Given the description of an element on the screen output the (x, y) to click on. 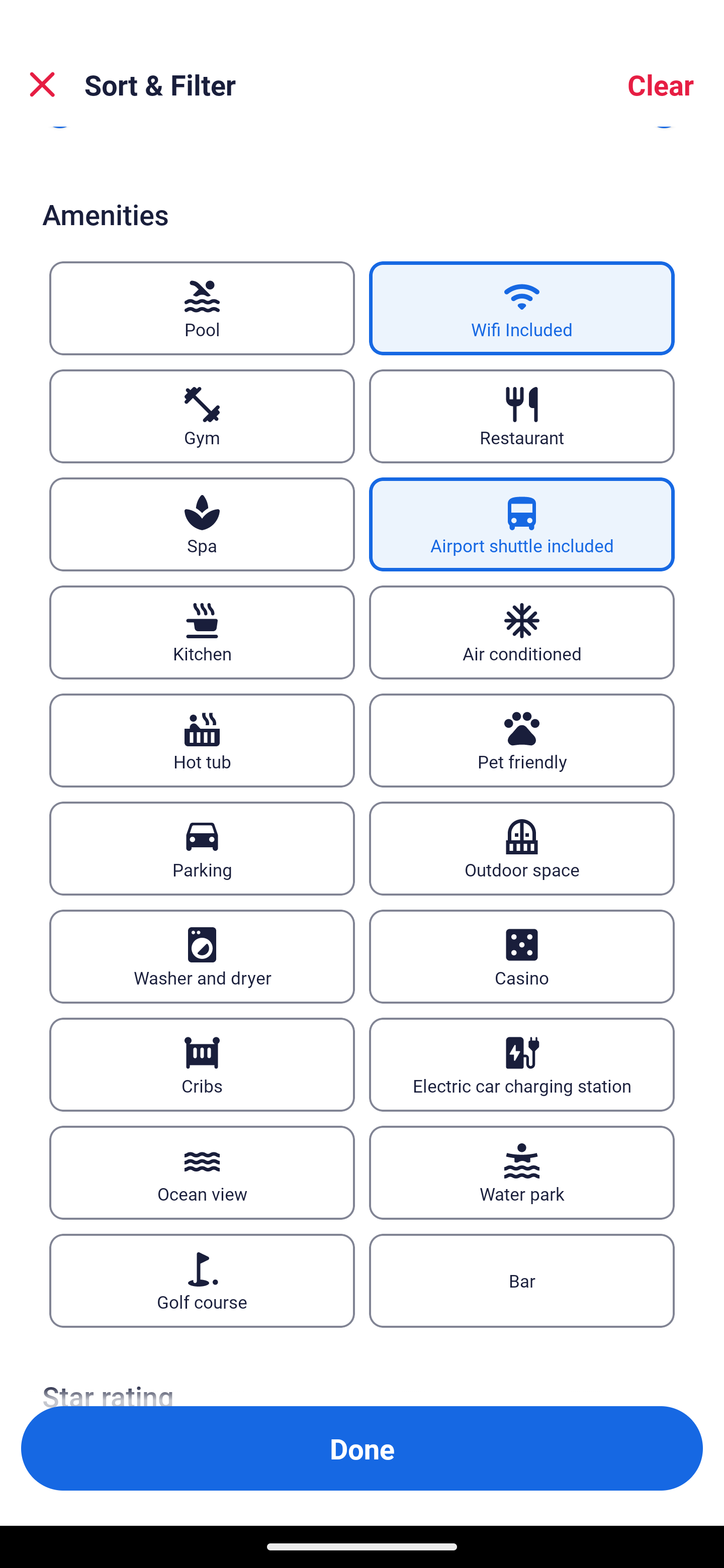
Close Sort and Filter (42, 84)
Clear (660, 84)
Pool (201, 308)
Wifi Included (521, 308)
Gym (201, 417)
Restaurant (521, 417)
Spa (201, 523)
Airport shuttle included (521, 523)
Kitchen (201, 631)
Air conditioned (521, 631)
Hot tub (201, 740)
Pet friendly (521, 740)
Parking (201, 848)
Outdoor space (521, 848)
Washer and dryer (201, 956)
Casino (521, 956)
Cribs (201, 1064)
Electric car charging station (521, 1064)
Ocean view (201, 1172)
Water park (521, 1172)
Golf course (201, 1281)
Bar (521, 1281)
Apply and close Sort and Filter Done (361, 1448)
